Given the description of an element on the screen output the (x, y) to click on. 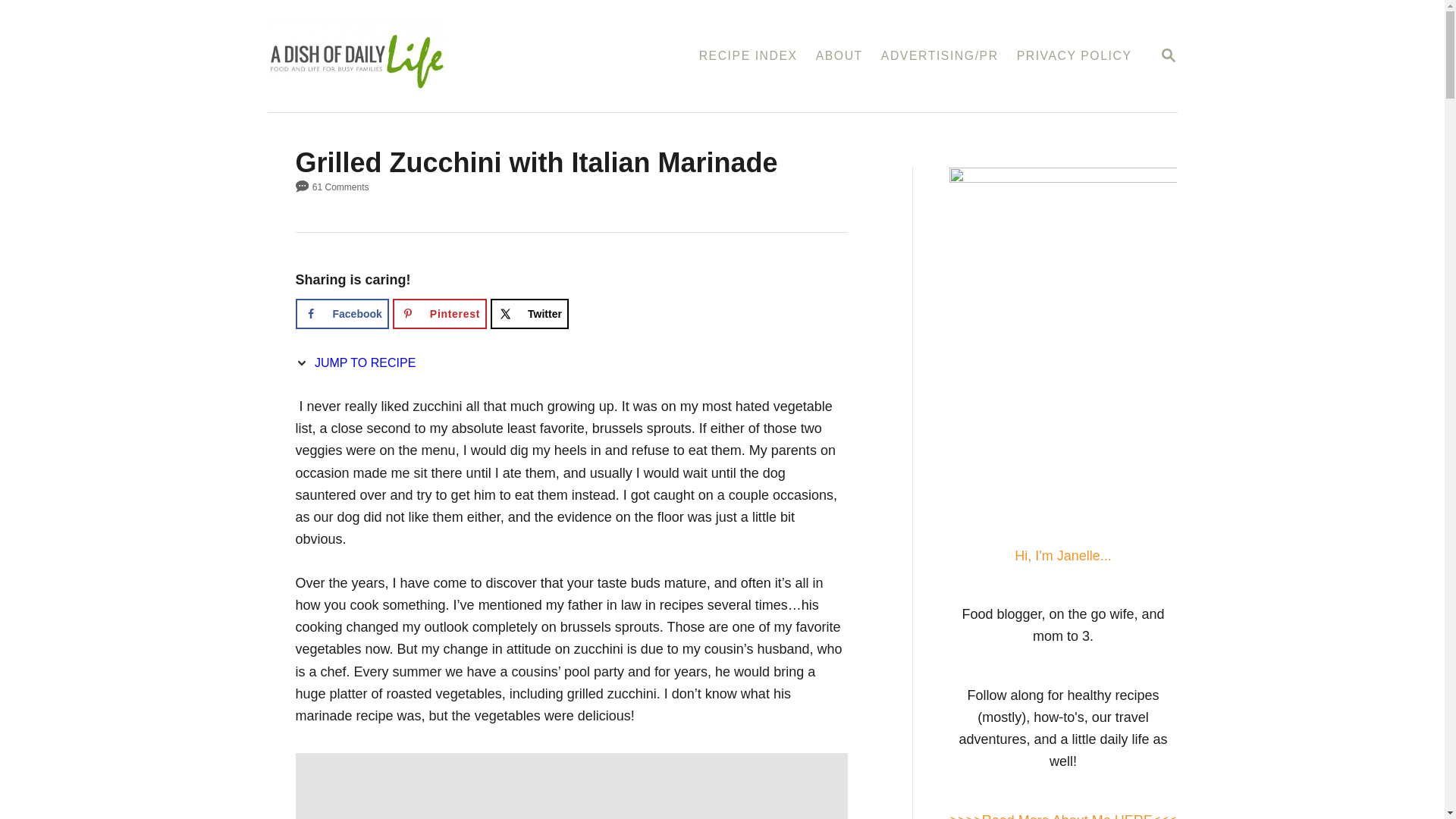
Twitter (529, 313)
Share on X (529, 313)
RECIPE INDEX (748, 55)
JUMP TO RECIPE (359, 362)
PRIVACY POLICY (1074, 55)
Facebook (341, 313)
ABOUT (1168, 55)
A Dish of Daily Life (839, 55)
Pinterest (429, 56)
